Given the description of an element on the screen output the (x, y) to click on. 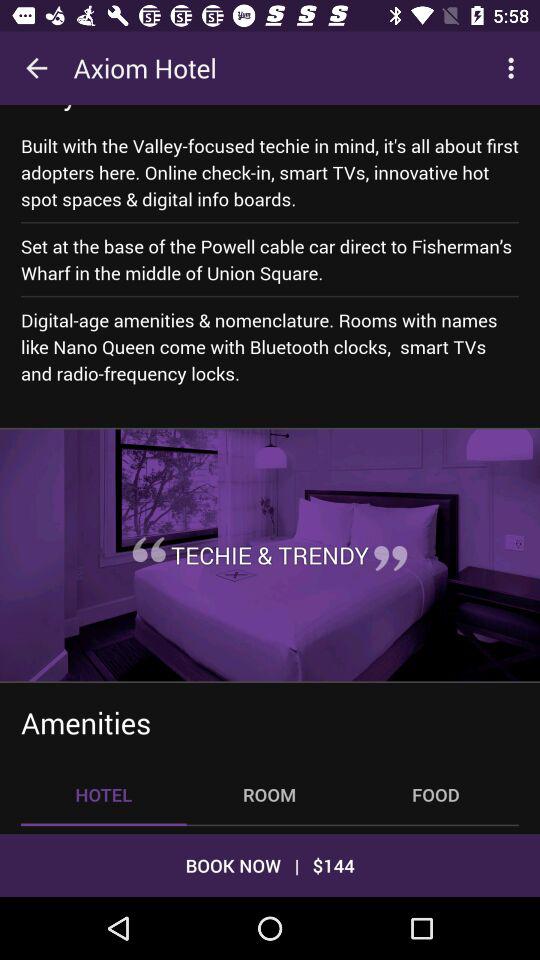
launch the item on the left (148, 549)
